Given the description of an element on the screen output the (x, y) to click on. 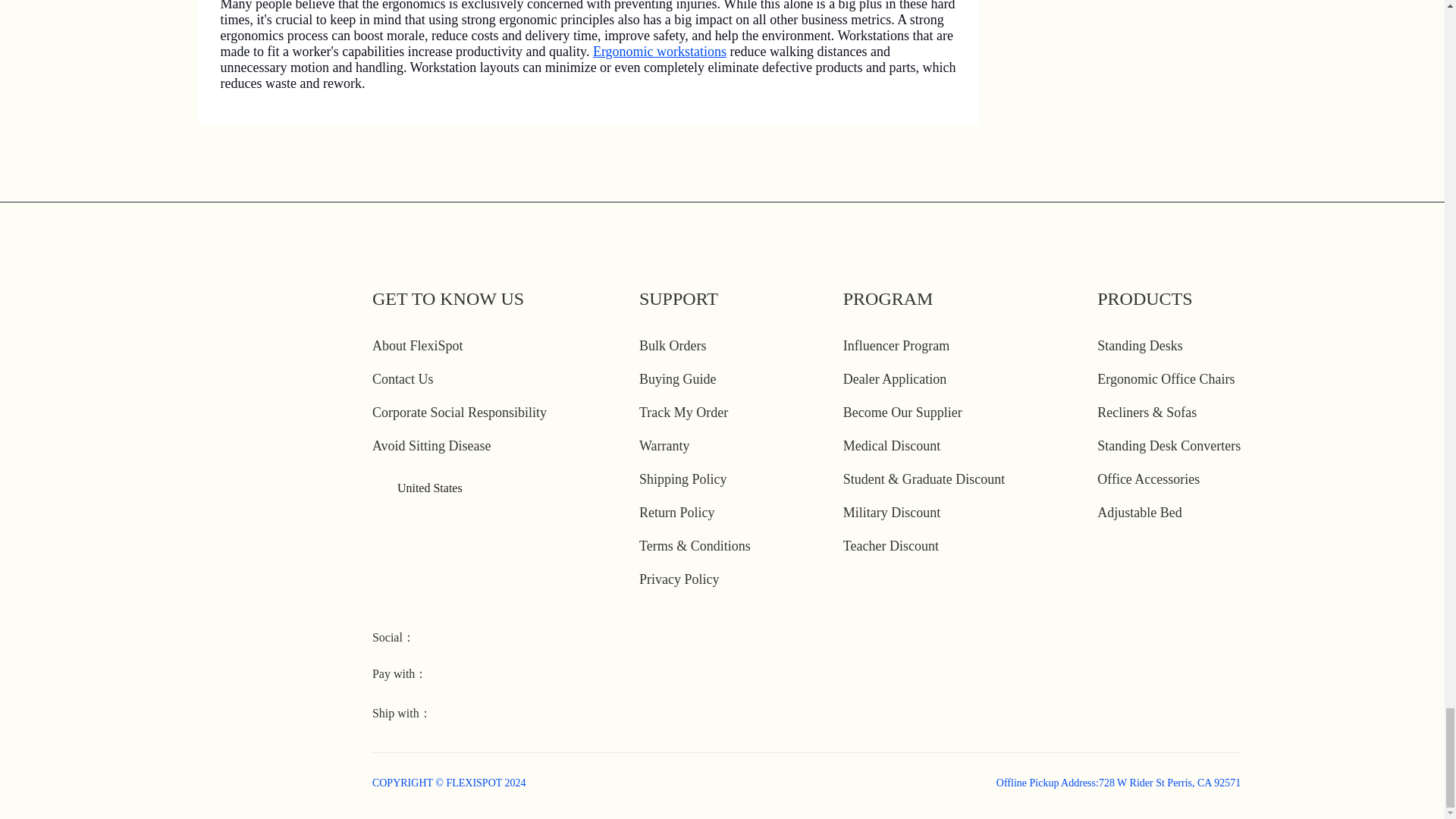
Dealer Application (894, 378)
Influencer Program (896, 345)
Office Accessories (1148, 478)
Avoid Sitting Disease (432, 445)
Medical Discount (891, 445)
Standing Desks (1139, 345)
Shipping Policy (682, 478)
Track My Order (683, 412)
Ergonomic Office Chairs (1165, 378)
Adjustable Bed (1138, 512)
Corporate Social Responsibility (459, 412)
Privacy Policy (679, 579)
Warranty (664, 445)
Standing Desk Converters (1168, 445)
Teacher Discount (891, 545)
